Given the description of an element on the screen output the (x, y) to click on. 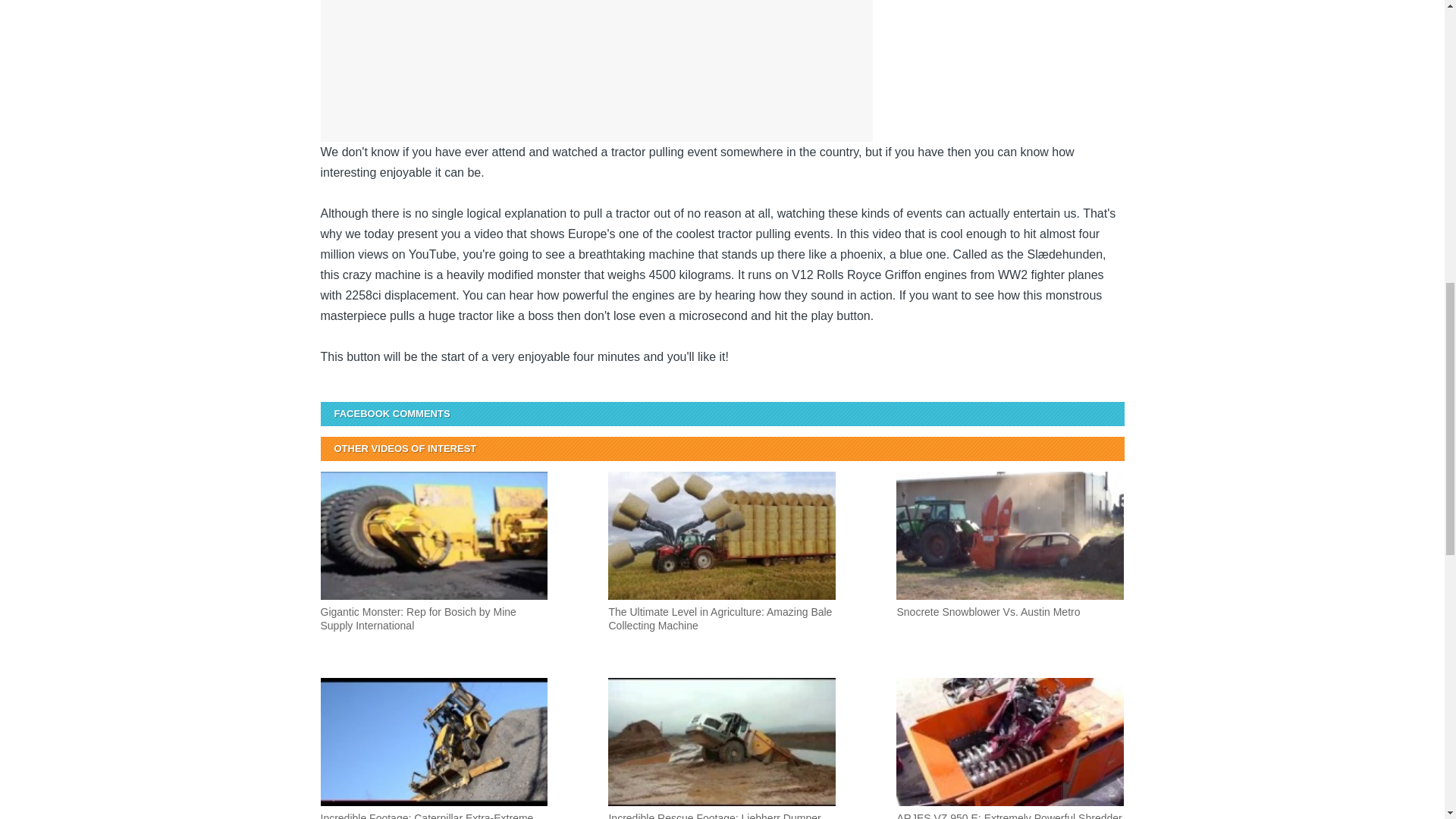
Advertisement (744, 65)
Snocrete Snowblower Vs. Austin Metro (1010, 569)
Incredible Footage: Caterpillar Extra-Extreme Downhill (433, 748)
Advertisement (447, 65)
